Given the description of an element on the screen output the (x, y) to click on. 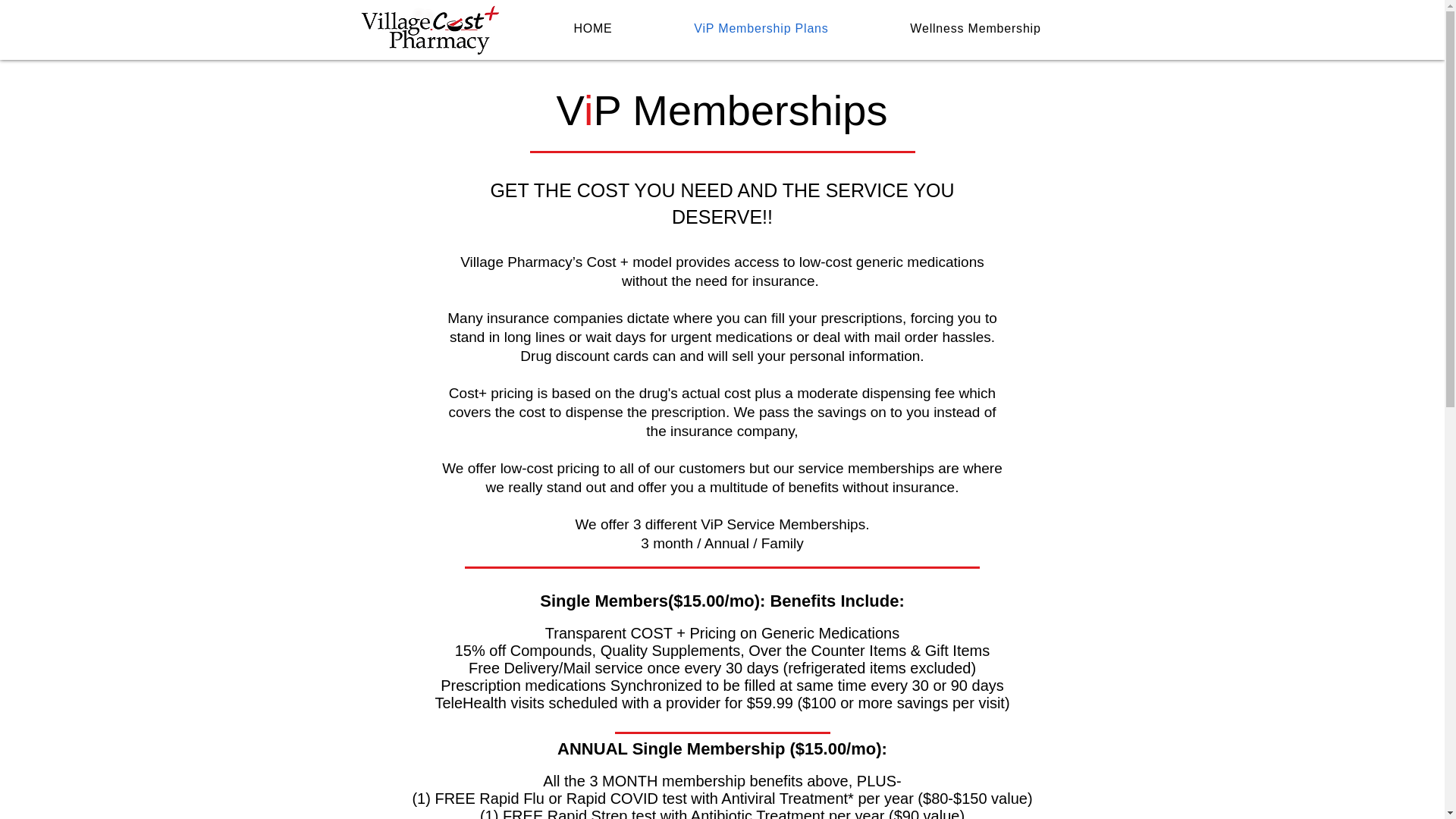
ViP Membership Plans (761, 28)
HOME (592, 28)
Wellness Membership (975, 28)
